Given the description of an element on the screen output the (x, y) to click on. 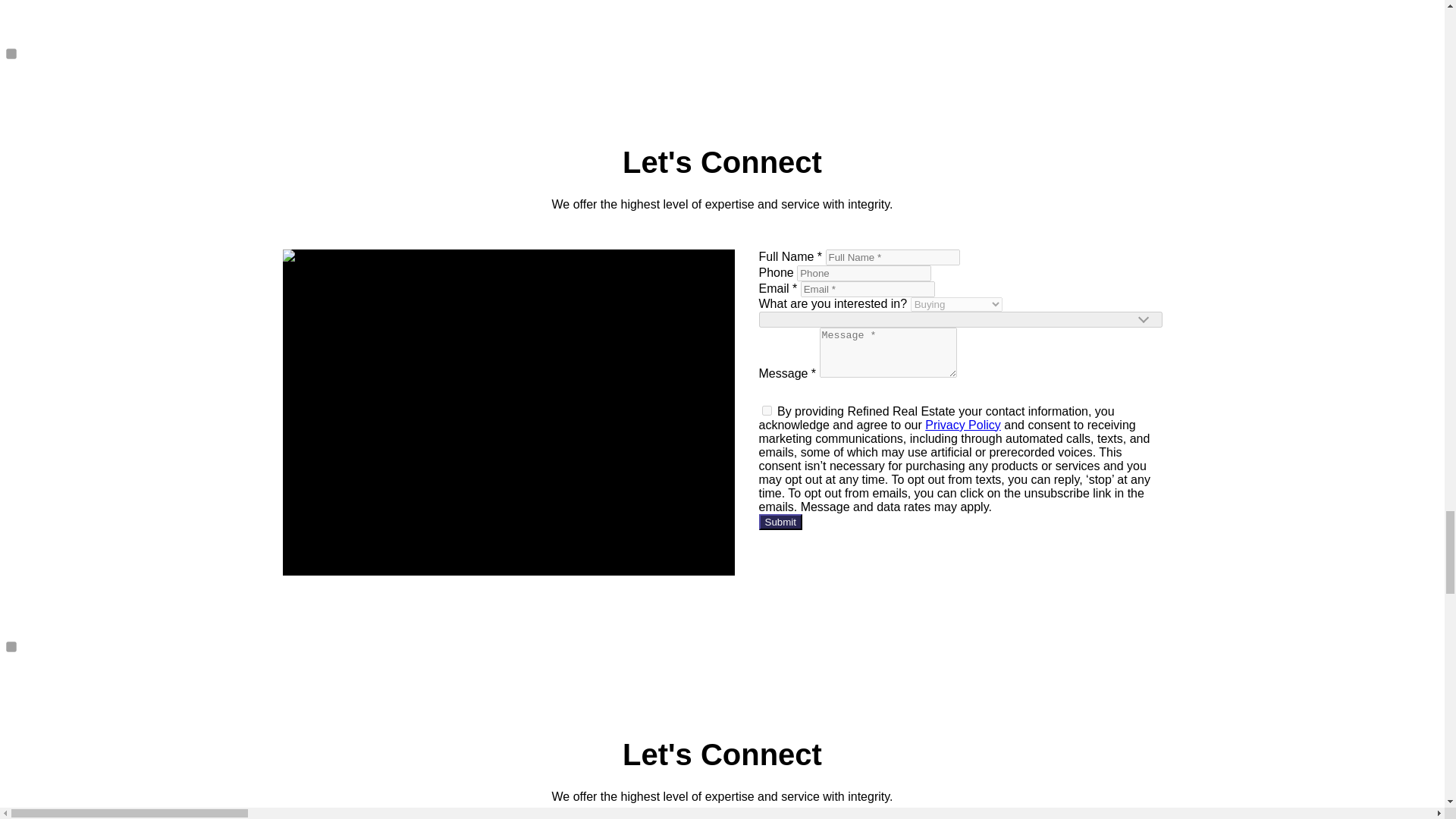
on (766, 410)
